Given the description of an element on the screen output the (x, y) to click on. 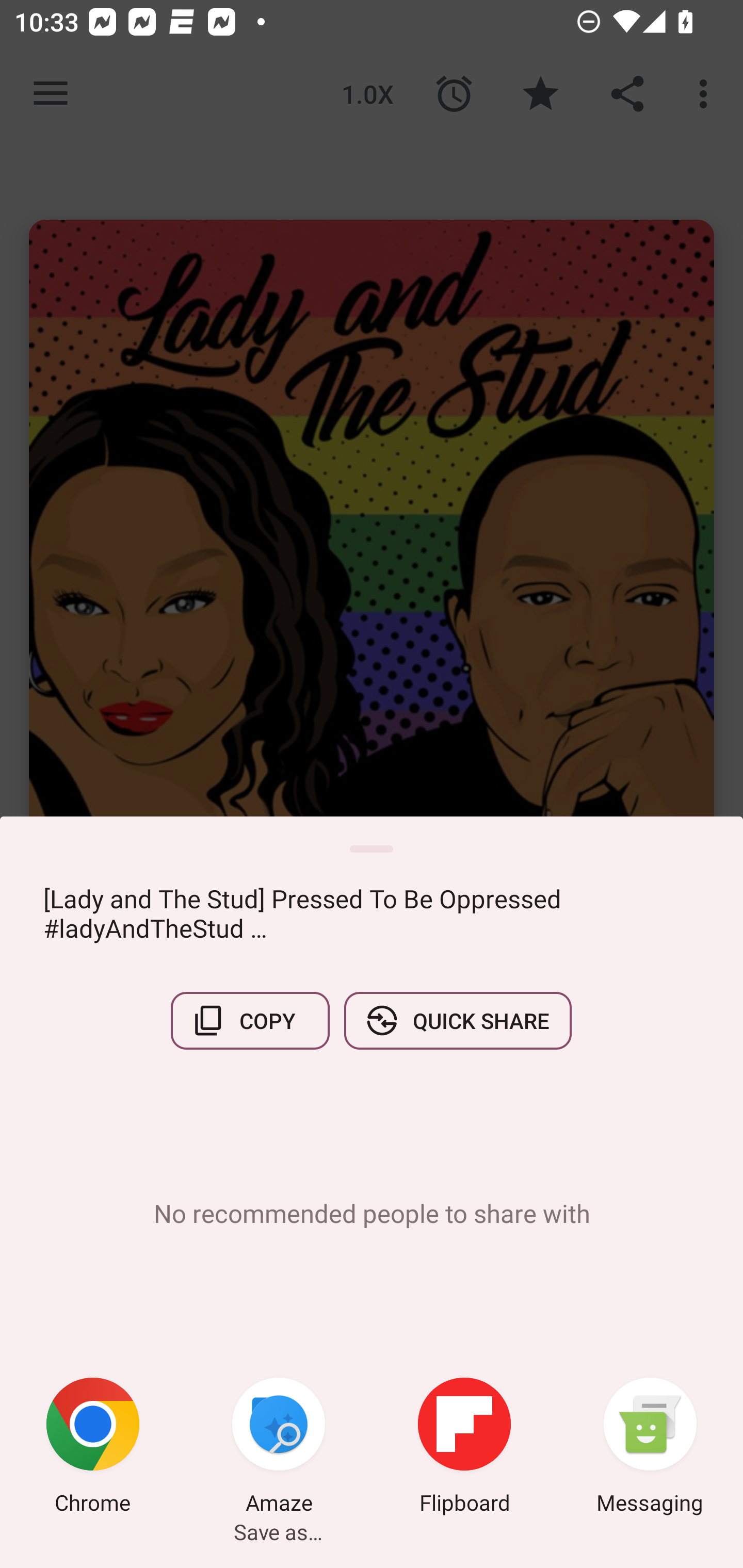
COPY (249, 1020)
QUICK SHARE (457, 1020)
Chrome (92, 1448)
Amaze Save as… (278, 1448)
Flipboard (464, 1448)
Messaging (650, 1448)
